Given the description of an element on the screen output the (x, y) to click on. 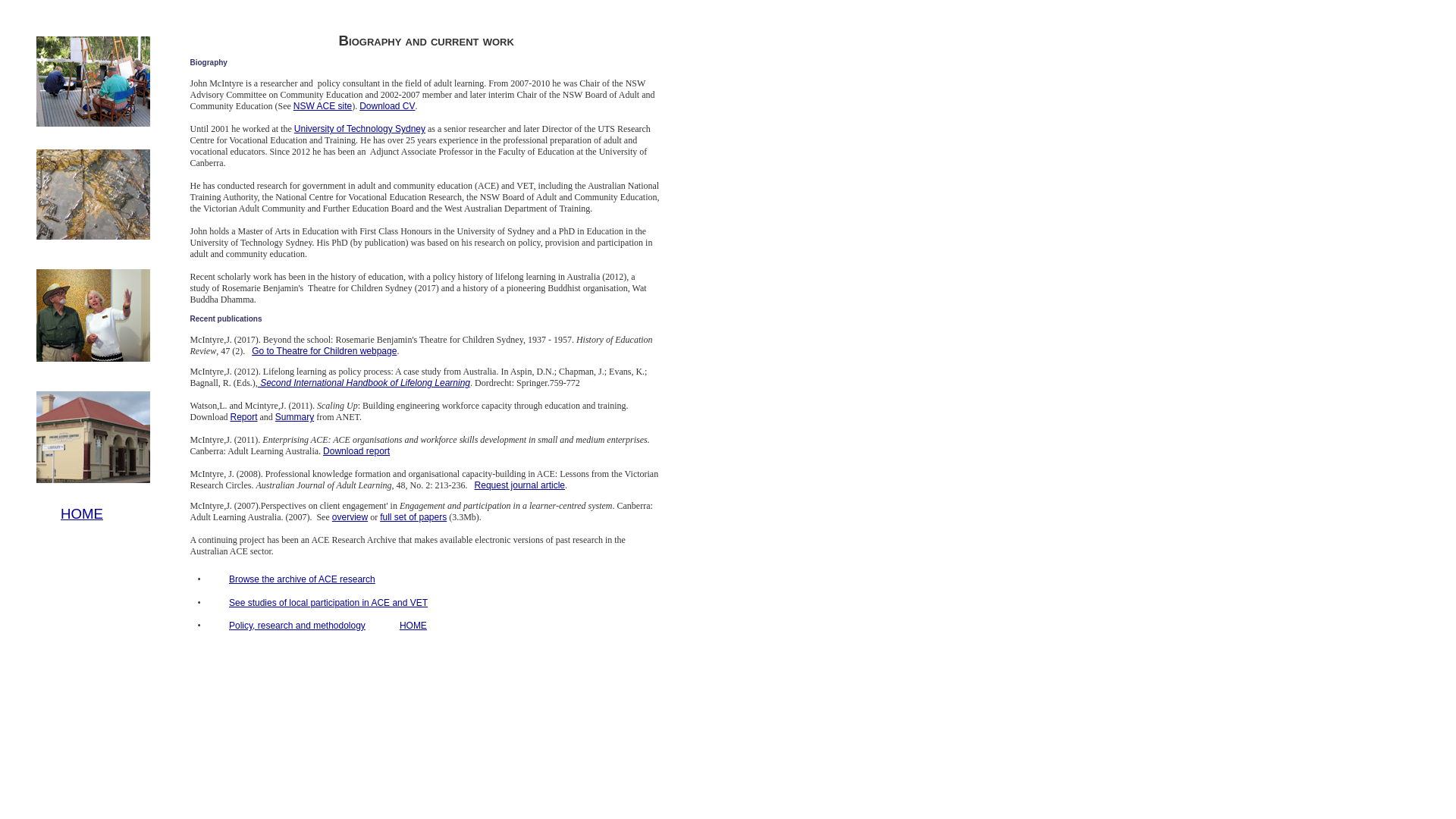
Browse the archive of ACE research Element type: text (302, 579)
overview Element type: text (349, 516)
HOME Element type: text (412, 625)
full set of papers Element type: text (412, 516)
Summary Element type: text (294, 416)
Request journal article Element type: text (519, 485)
Second International Handbook of Lifelong Learning Element type: text (363, 382)
University of Technology Sydney Element type: text (359, 128)
See studies of local participation in ACE and VET Element type: text (328, 602)
Download CV Element type: text (386, 105)
Policy, research and methodology Element type: text (297, 625)
Download report Element type: text (356, 450)
Report Element type: text (243, 416)
HOME Element type: text (81, 513)
Go to Theatre for Children webpage Element type: text (323, 350)
NSW ACE site Element type: text (322, 105)
